Given the description of an element on the screen output the (x, y) to click on. 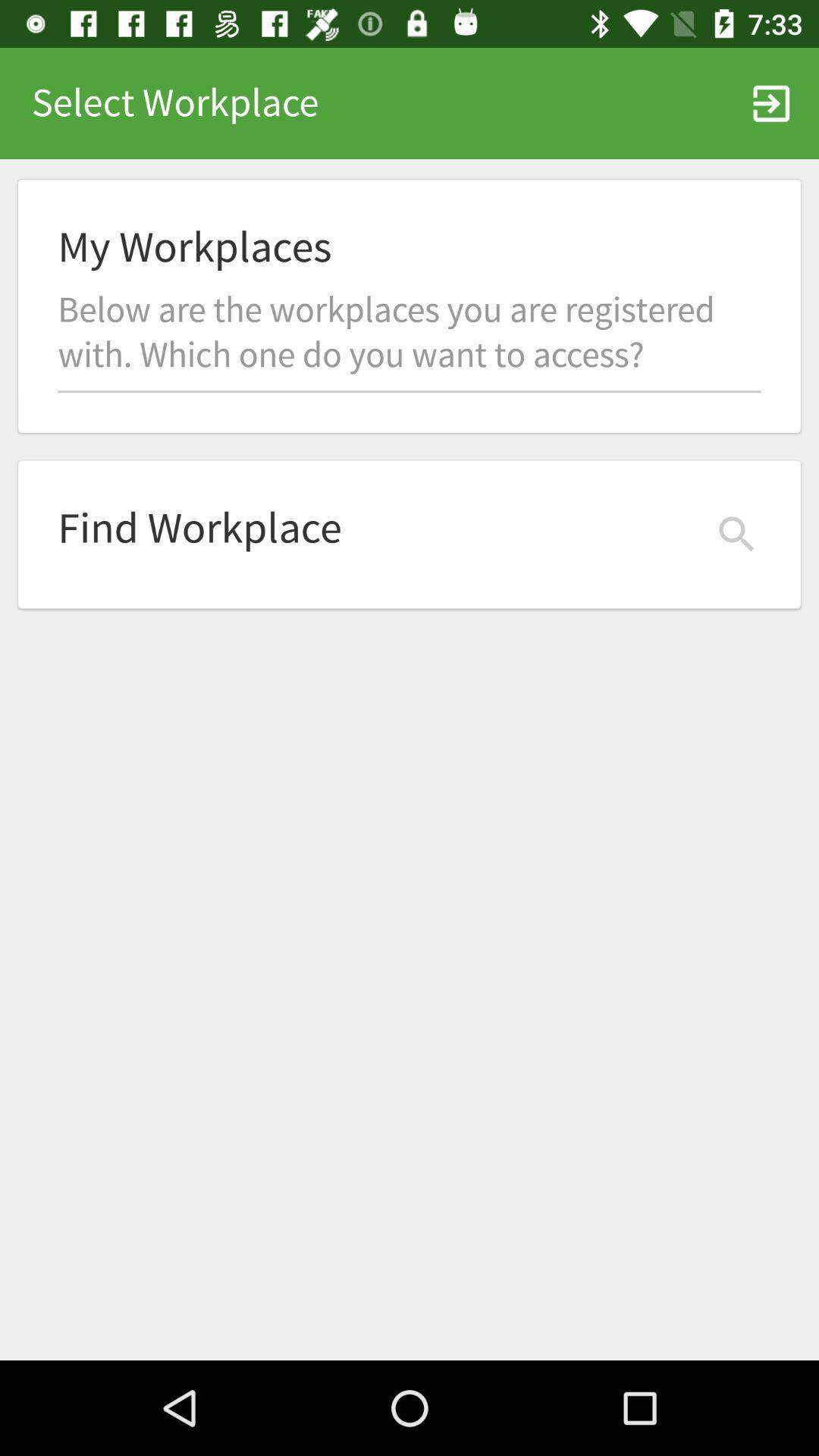
tap icon above my workplaces icon (771, 103)
